Given the description of an element on the screen output the (x, y) to click on. 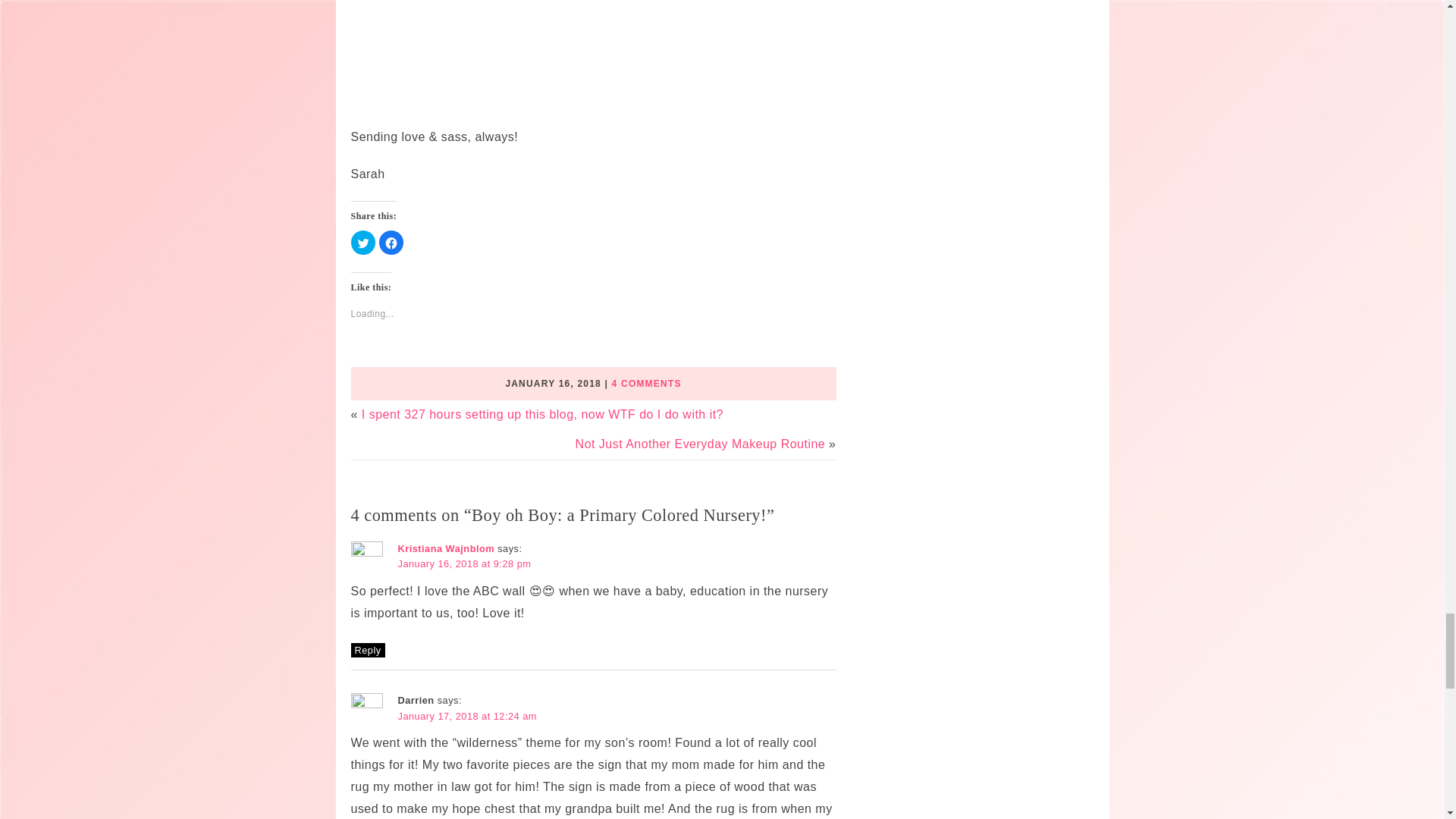
Kristiana Wajnblom (446, 548)
January 16, 2018 at 9:28 pm (464, 563)
Reply (367, 649)
Click to share on Facebook (390, 242)
January 17, 2018 at 12:24 am (466, 715)
4 COMMENTS (646, 383)
Not Just Another Everyday Makeup Routine (700, 443)
Click to share on Twitter (362, 242)
